Given the description of an element on the screen output the (x, y) to click on. 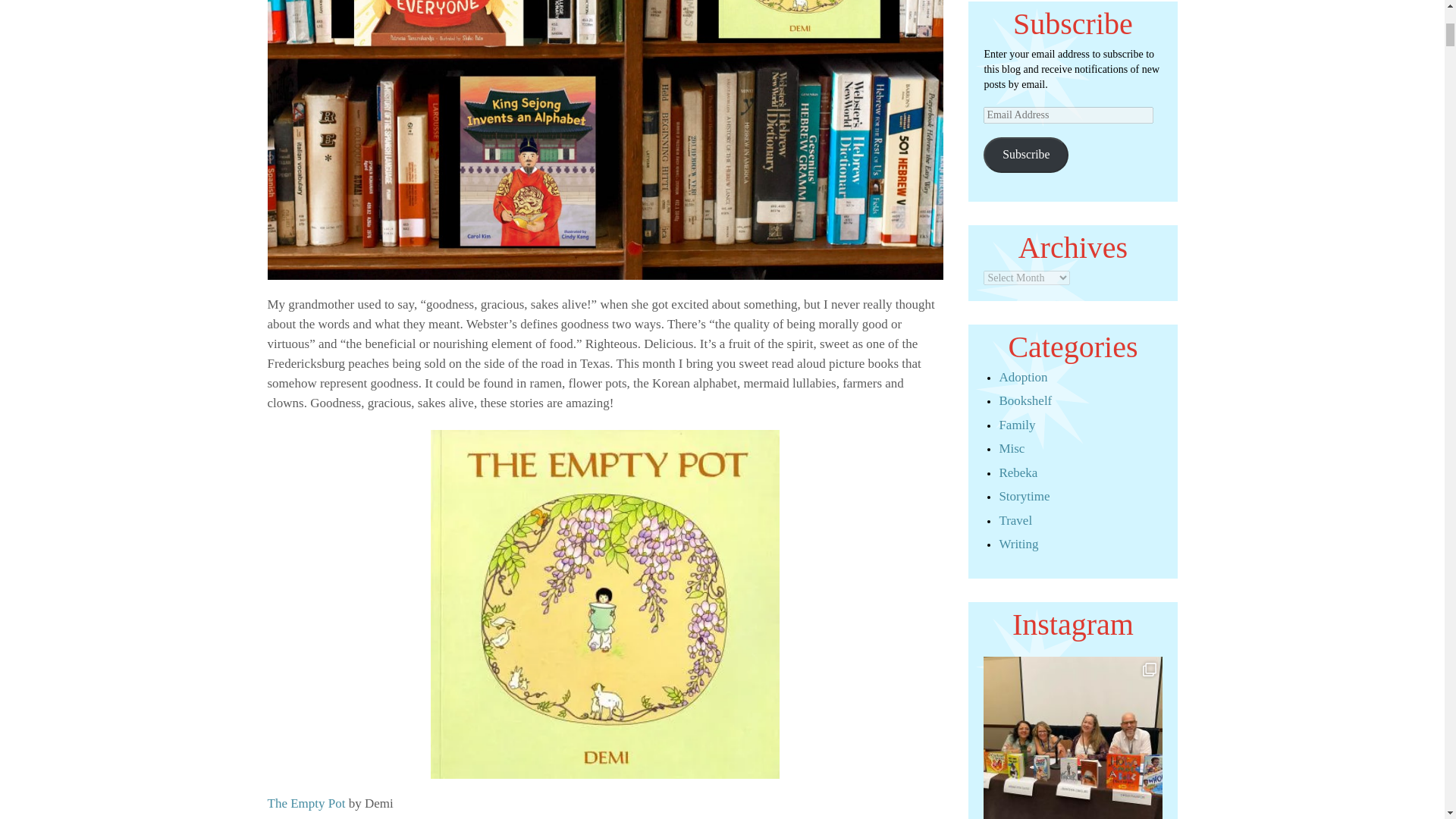
The Empty Pot (305, 803)
